Given the description of an element on the screen output the (x, y) to click on. 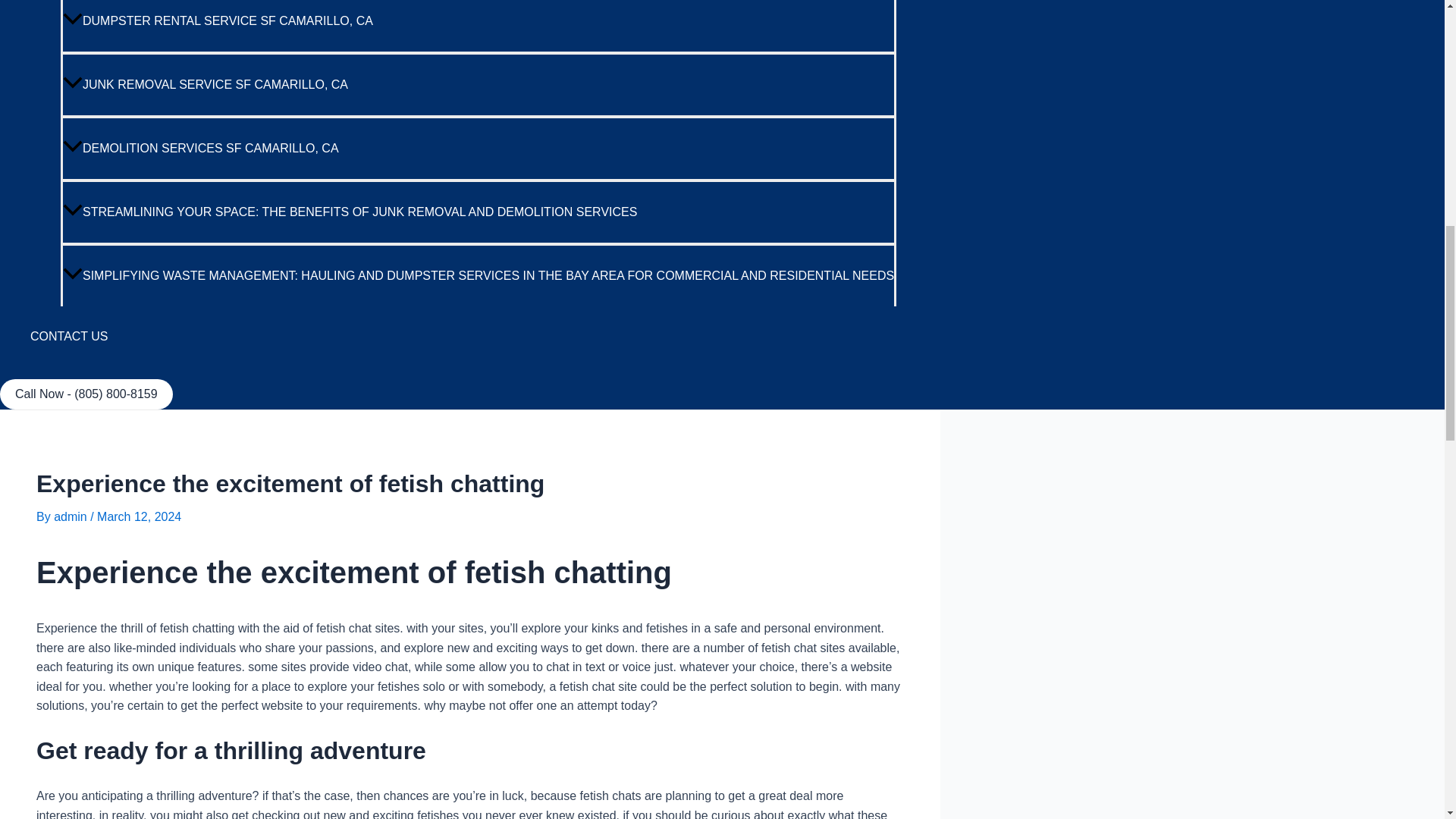
View all posts by admin (71, 516)
JUNK REMOVAL SERVICE SF CAMARILLO, CA (478, 84)
DUMPSTER RENTAL SERVICE SF CAMARILLO, CA (478, 26)
CONTACT US (463, 336)
DEMOLITION SERVICES SF CAMARILLO, CA (478, 147)
